Given the description of an element on the screen output the (x, y) to click on. 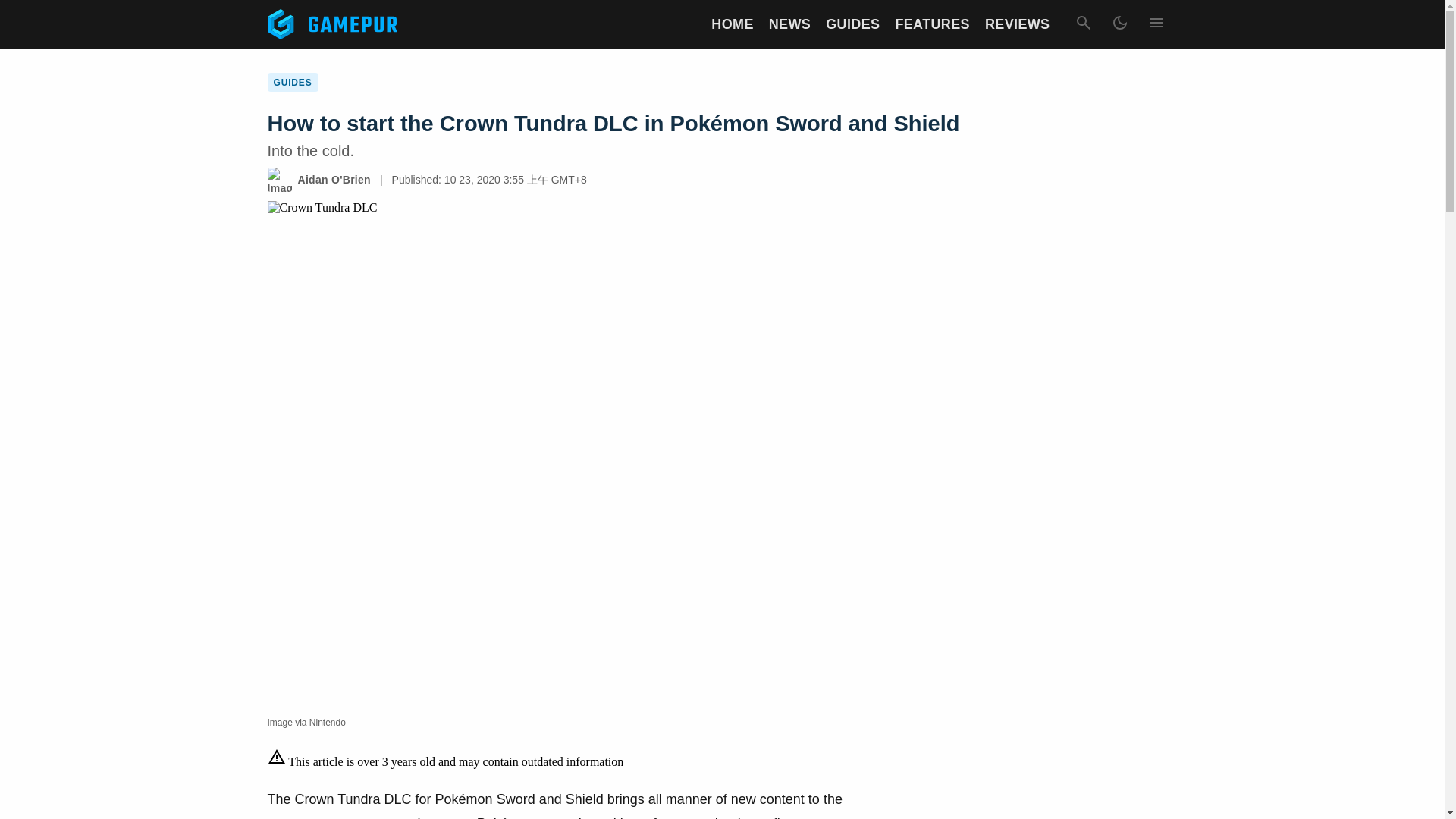
NEWS (789, 23)
Search (1082, 23)
GUIDES (852, 23)
HOME (731, 23)
Expand Menu (1155, 23)
FEATURES (932, 23)
Dark Mode (1118, 23)
REVIEWS (1017, 23)
